Given the description of an element on the screen output the (x, y) to click on. 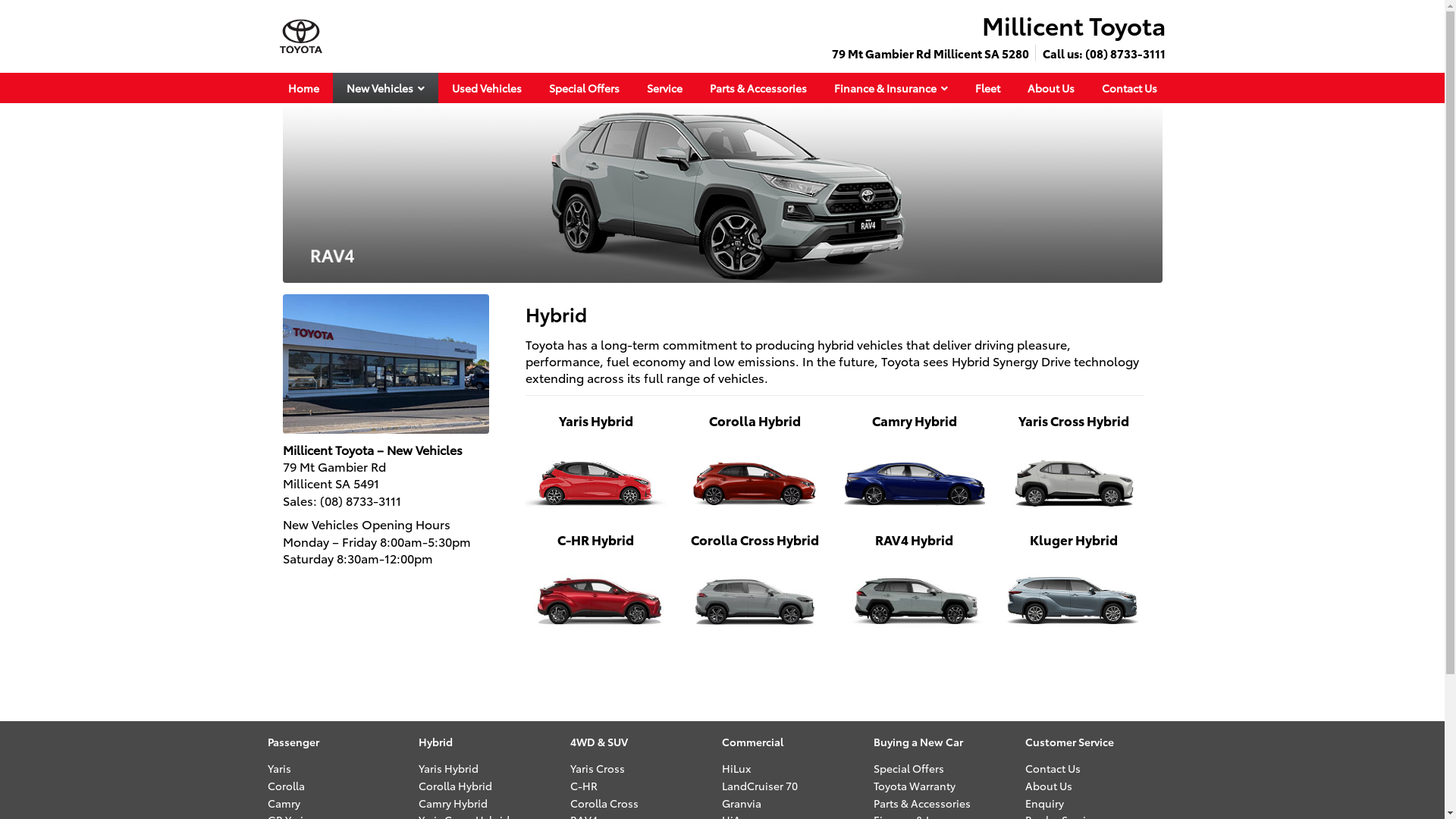
Enquiry Element type: text (1044, 801)
(08) 8733-3111 Element type: text (360, 499)
Special Offers Element type: text (908, 767)
(08) 8733-3111 Element type: text (1124, 52)
Finance & Insurance Element type: text (890, 87)
Granvia Element type: text (741, 801)
Special Offers Element type: text (584, 87)
Fleet Element type: text (987, 87)
Corolla Hybrid Element type: text (455, 785)
Contact Us Element type: text (1128, 87)
New Vehicles Element type: text (384, 87)
Service Element type: text (663, 87)
About Us Element type: text (1050, 87)
Corolla Element type: text (285, 785)
Home Element type: text (303, 87)
Yaris Cross Element type: text (597, 767)
Parts & Accessories Element type: text (758, 87)
About Us Element type: text (1048, 785)
Used Vehicles Element type: text (486, 87)
C-HR Element type: text (583, 785)
Camry Element type: text (282, 801)
Yaris Element type: text (278, 767)
Camry Hybrid Element type: text (452, 801)
Corolla Cross Element type: text (604, 801)
Yaris Hybrid Element type: text (448, 767)
LandCruiser 70 Element type: text (759, 785)
HiLux Element type: text (735, 767)
Contact Us Element type: text (1052, 767)
Parts & Accessories Element type: text (921, 801)
Toyota Warranty Element type: text (914, 785)
